Given the description of an element on the screen output the (x, y) to click on. 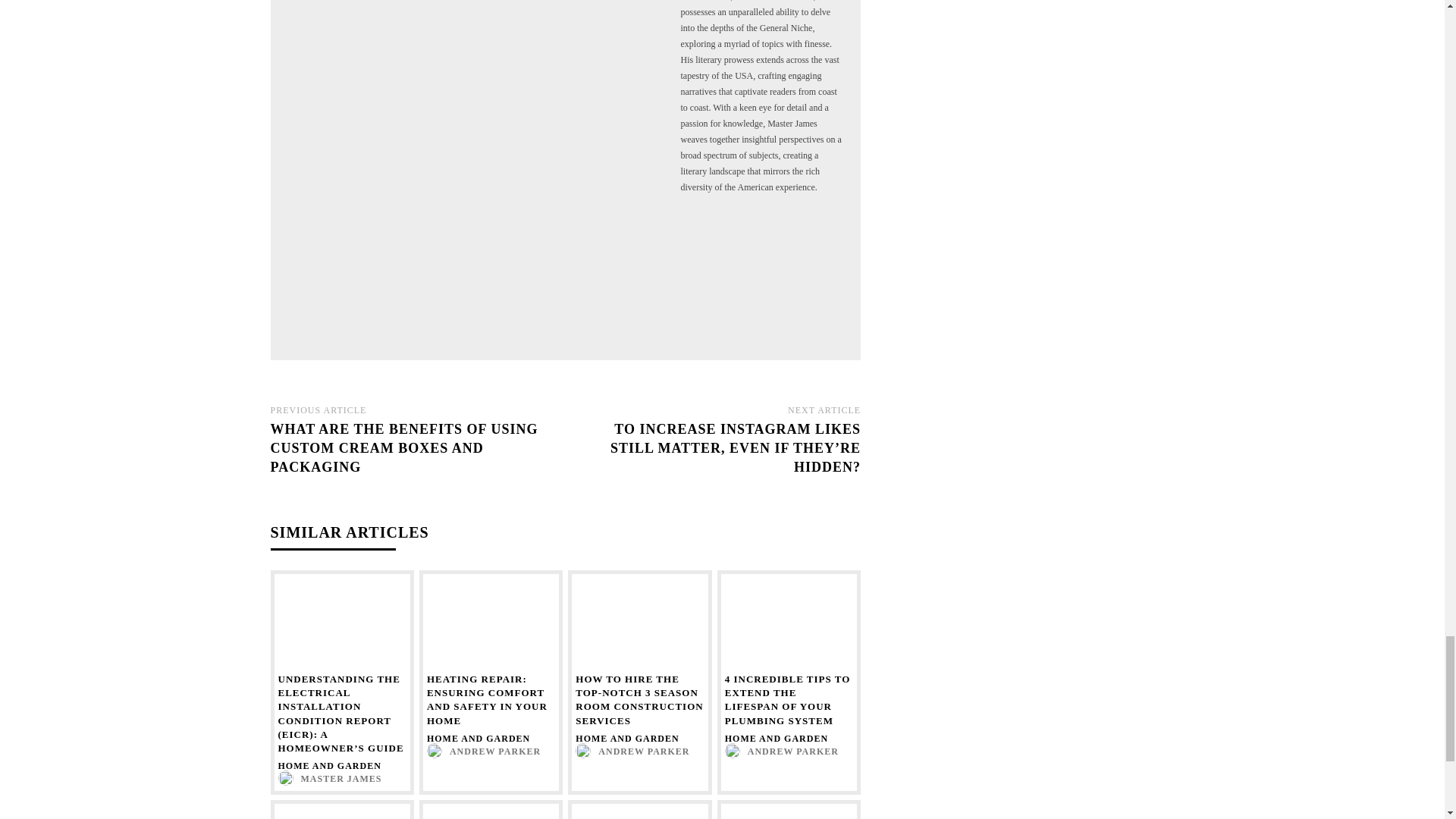
Heating Repair: Ensuring Comfort and Safety in Your Home (490, 623)
Master James (475, 171)
